Given the description of an element on the screen output the (x, y) to click on. 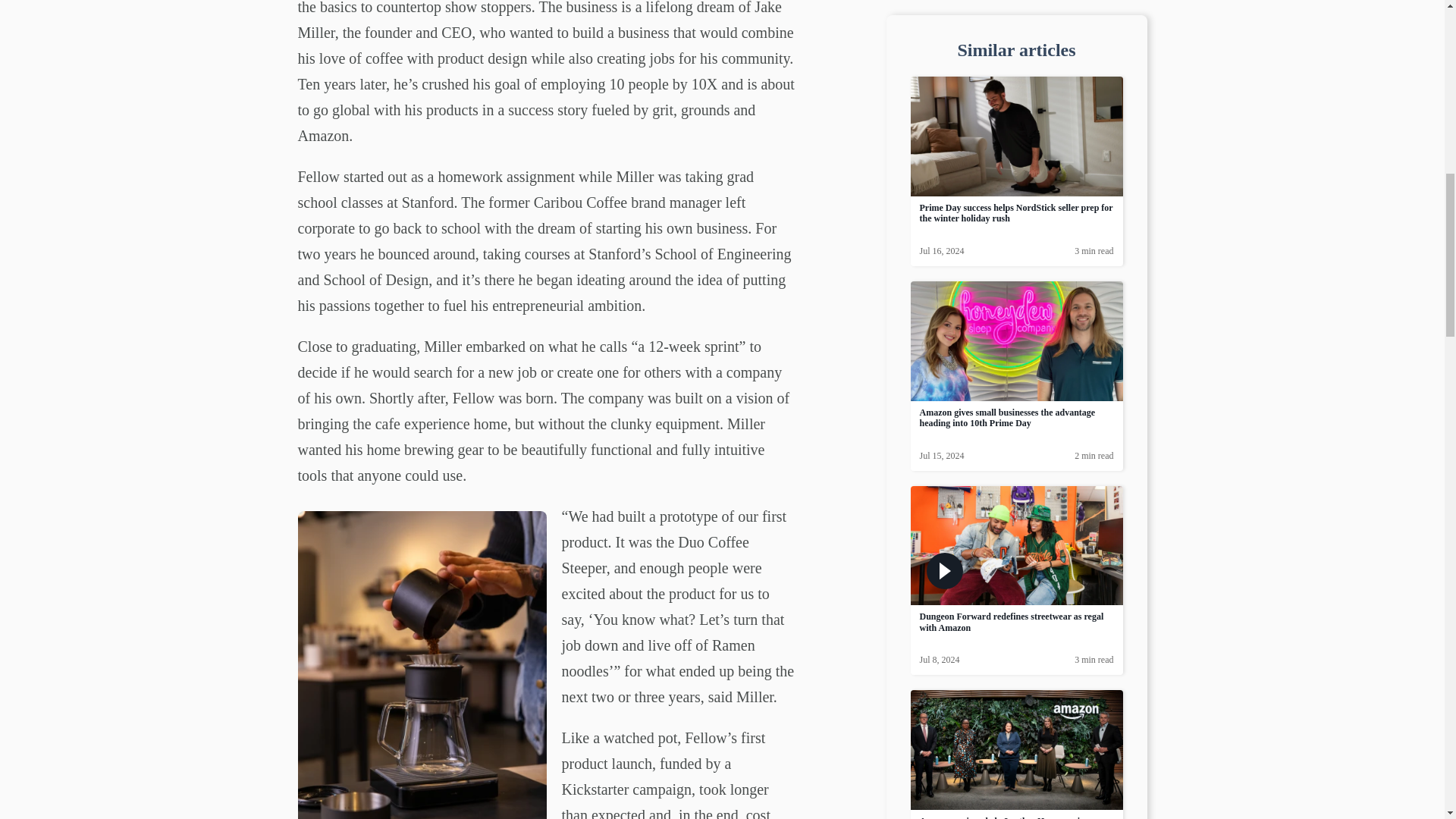
Dungeon Forward redefines streetwear as regal with Amazon (1010, 574)
